Given the description of an element on the screen output the (x, y) to click on. 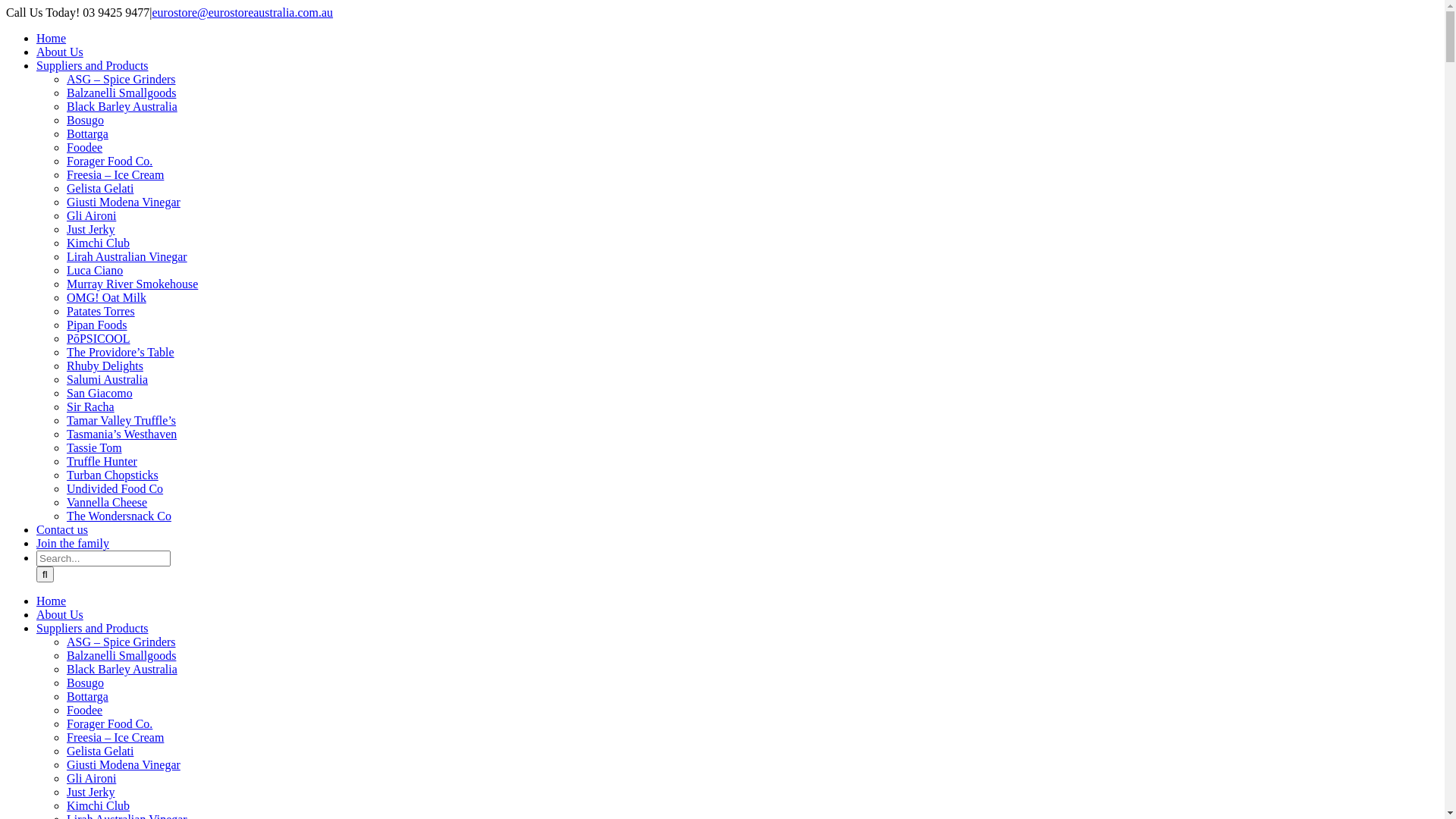
Bottarga Element type: text (87, 133)
Rhuby Delights Element type: text (104, 365)
Just Jerky Element type: text (90, 791)
eurostore@eurostoreaustralia.com.au Element type: text (241, 12)
Just Jerky Element type: text (90, 228)
Foodee Element type: text (84, 147)
Luca Ciano Element type: text (94, 269)
Salumi Australia Element type: text (106, 379)
Sir Racha Element type: text (90, 406)
Bosugo Element type: text (84, 119)
Turban Chopsticks Element type: text (112, 474)
Pipan Foods Element type: text (96, 324)
Undivided Food Co Element type: text (114, 488)
Forager Food Co. Element type: text (109, 723)
Truffle Hunter Element type: text (101, 461)
About Us Element type: text (59, 614)
Bosugo Element type: text (84, 682)
Black Barley Australia Element type: text (121, 668)
Lirah Australian Vinegar Element type: text (126, 256)
Suppliers and Products Element type: text (92, 65)
Forager Food Co. Element type: text (109, 160)
Gli Aironi Element type: text (91, 215)
Gelista Gelati Element type: text (99, 188)
Kimchi Club Element type: text (97, 242)
Black Barley Australia Element type: text (121, 106)
San Giacomo Element type: text (99, 392)
Balzanelli Smallgoods Element type: text (120, 655)
Join the family Element type: text (72, 542)
Murray River Smokehouse Element type: text (131, 283)
Home Element type: text (50, 600)
Gli Aironi Element type: text (91, 777)
About Us Element type: text (59, 51)
OMG! Oat Milk Element type: text (106, 297)
Home Element type: text (50, 37)
The Wondersnack Co Element type: text (118, 515)
Vannella Cheese Element type: text (106, 501)
Gelista Gelati Element type: text (99, 750)
Bottarga Element type: text (87, 696)
Balzanelli Smallgoods Element type: text (120, 92)
Skip to content Element type: text (5, 5)
Contact us Element type: text (61, 529)
Suppliers and Products Element type: text (92, 627)
Tassie Tom Element type: text (94, 447)
Kimchi Club Element type: text (97, 805)
Foodee Element type: text (84, 709)
Giusti Modena Vinegar Element type: text (123, 764)
Giusti Modena Vinegar Element type: text (123, 201)
Patates Torres Element type: text (100, 310)
